Given the description of an element on the screen output the (x, y) to click on. 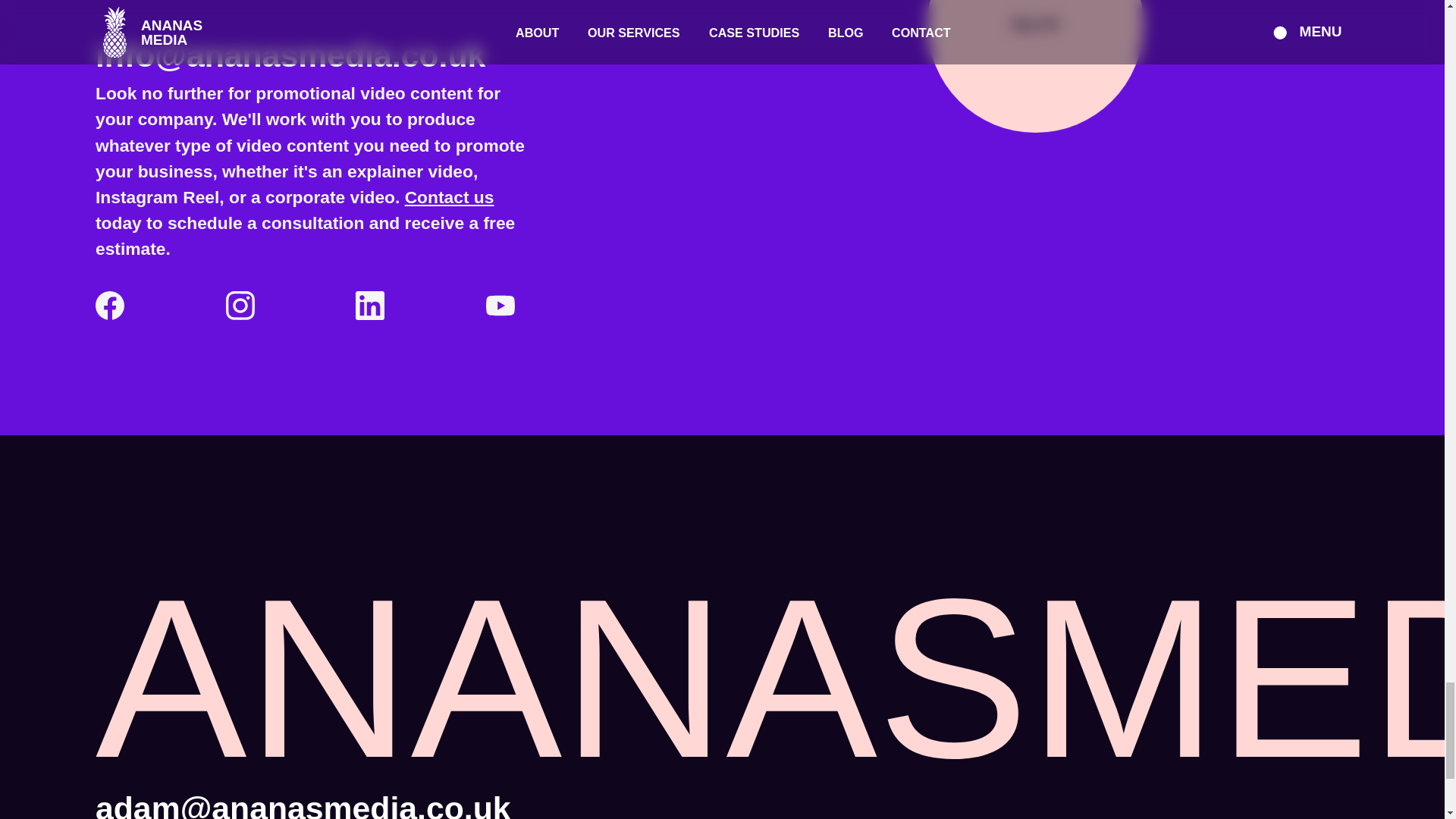
Contact us (1034, 66)
